Given the description of an element on the screen output the (x, y) to click on. 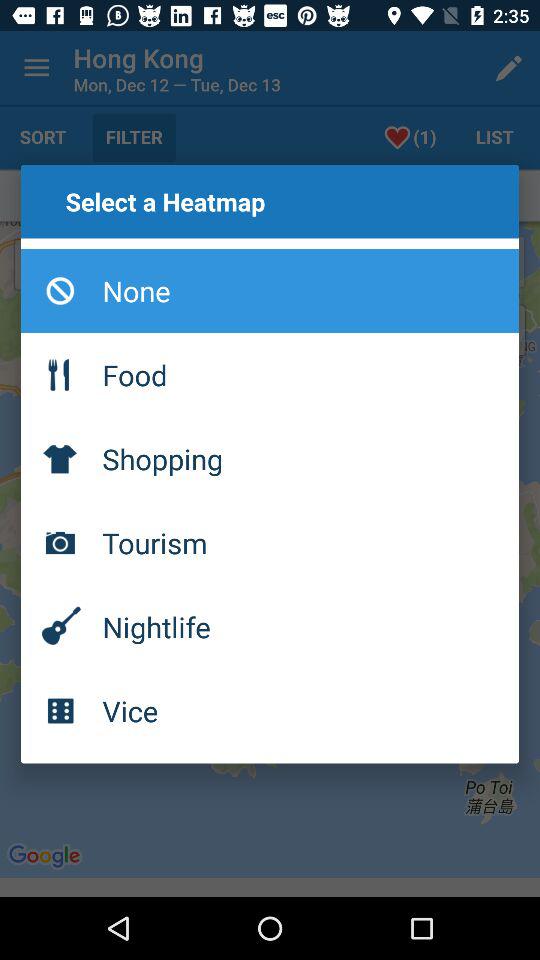
tap food (270, 374)
